Given the description of an element on the screen output the (x, y) to click on. 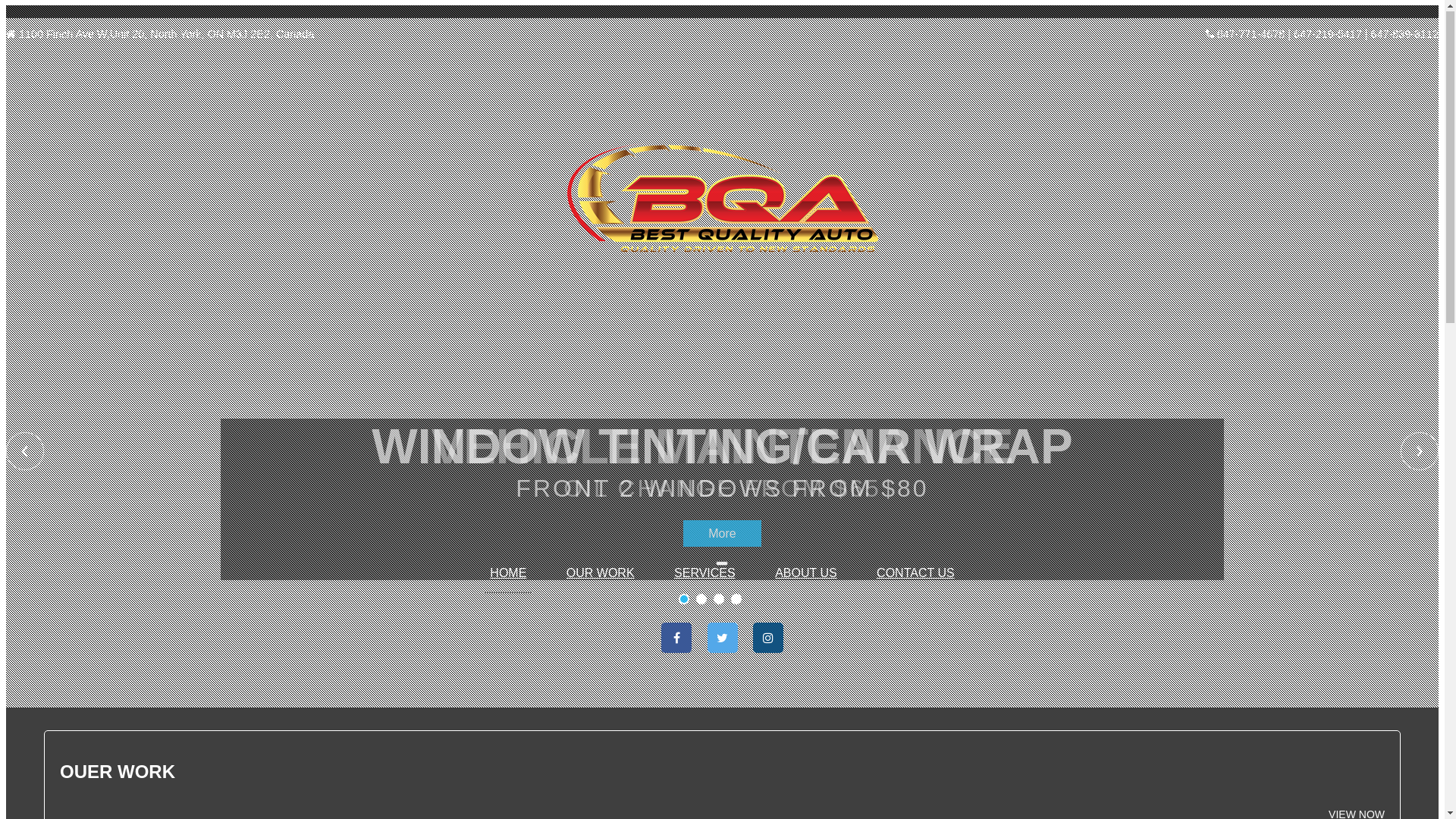
More Element type: text (721, 533)
HOME Element type: text (507, 573)
OUR WORK Element type: text (600, 573)
Next Element type: text (1419, 451)
CONTACT US Element type: text (915, 573)
ABOUT US Element type: text (805, 573)
SERVICES Element type: text (704, 573)
Previous Element type: text (24, 451)
Toggle navigation Element type: text (721, 563)
